Given the description of an element on the screen output the (x, y) to click on. 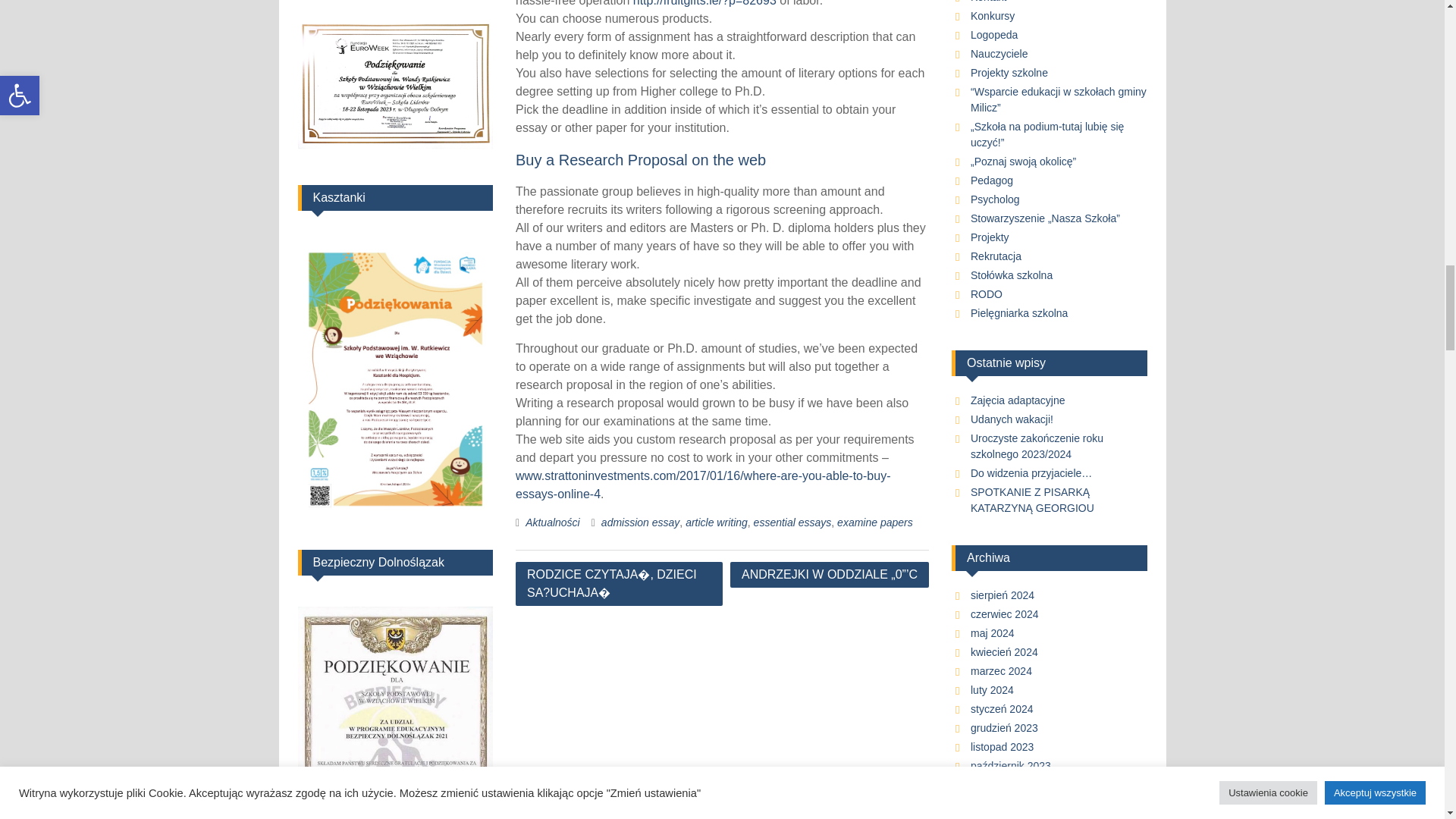
admission essay (640, 522)
article writing (716, 522)
essential essays (792, 522)
examine papers (874, 522)
